Given the description of an element on the screen output the (x, y) to click on. 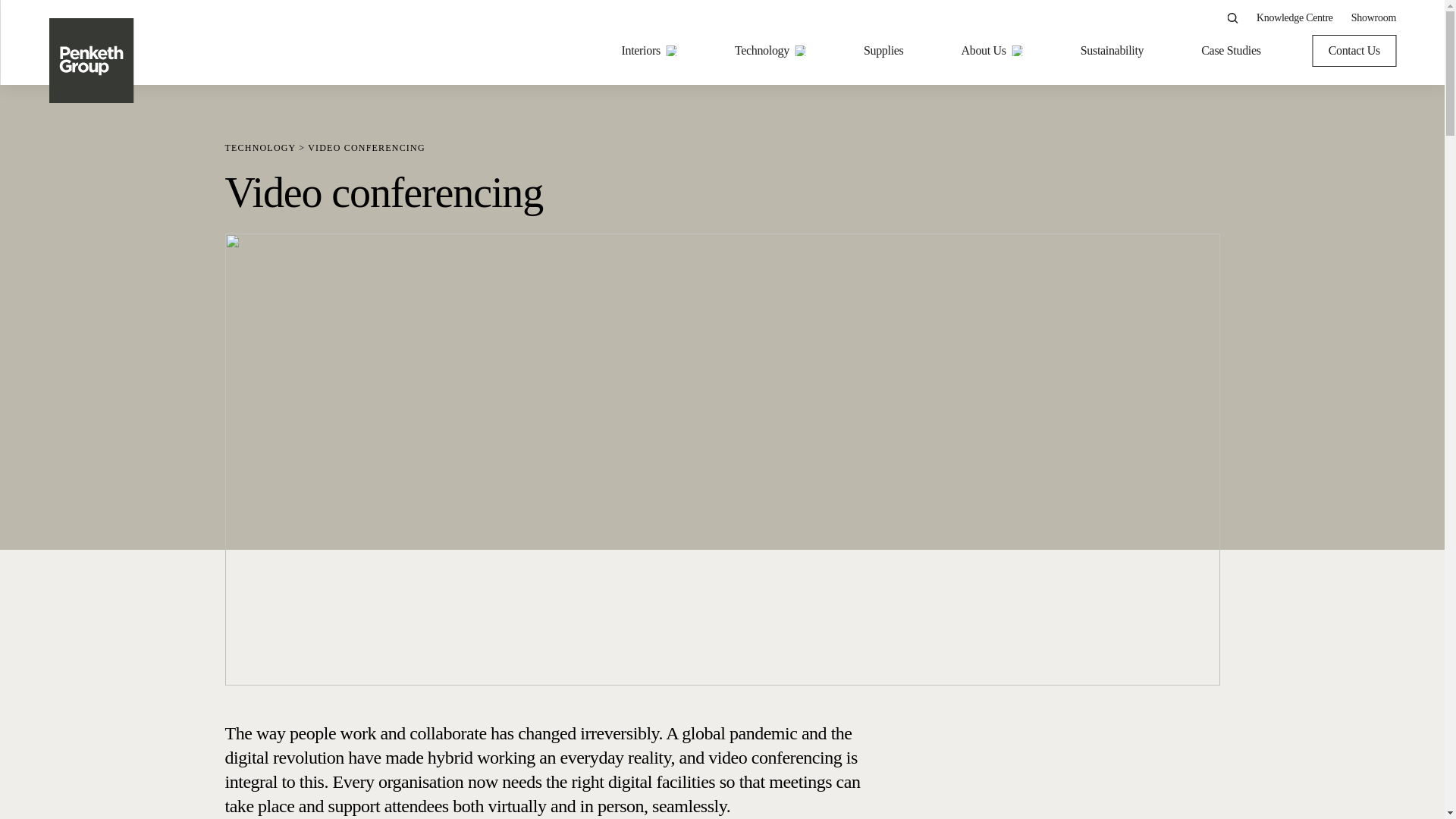
Office Refurbishment (537, 202)
Reception Areas (827, 263)
CEO Office (816, 202)
Atrium (805, 445)
Social Areas (818, 172)
Digital Signage and Booking Screens (573, 263)
Ergonomic Office Furniture (1158, 324)
Collaborative Office Spaces (853, 293)
Sustainability (1112, 50)
Video Conferencing (532, 202)
Supplies (883, 50)
Office Breakout Areas (841, 233)
Boardrooms (818, 415)
Office Chairs (1123, 293)
Privacy Pods and Phone Booths (1166, 384)
